Given the description of an element on the screen output the (x, y) to click on. 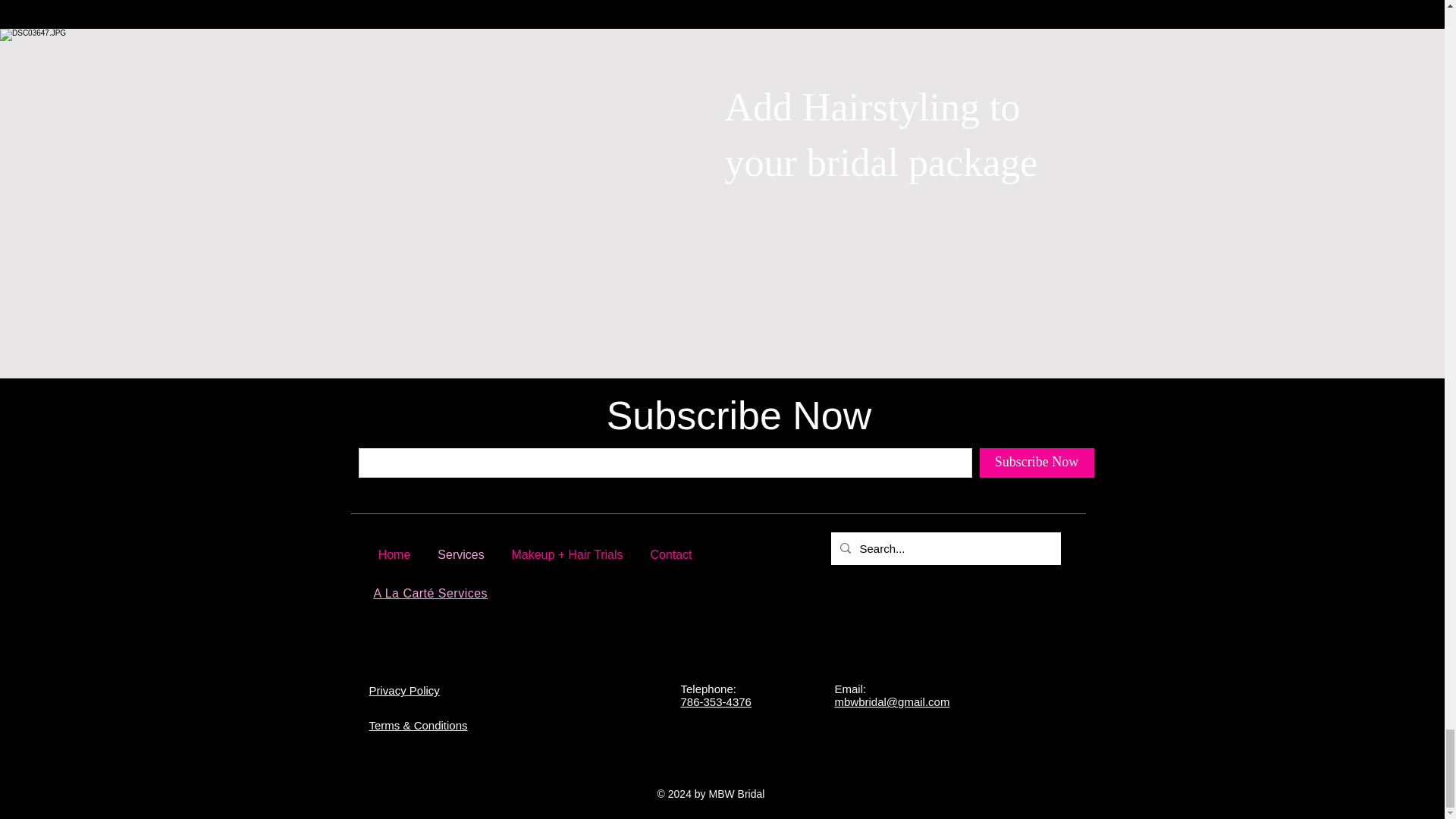
Privacy Policy (403, 689)
Subscribe Now (1036, 462)
Contact (671, 555)
786-353-4376 (716, 701)
Services (461, 555)
Home (393, 555)
